Given the description of an element on the screen output the (x, y) to click on. 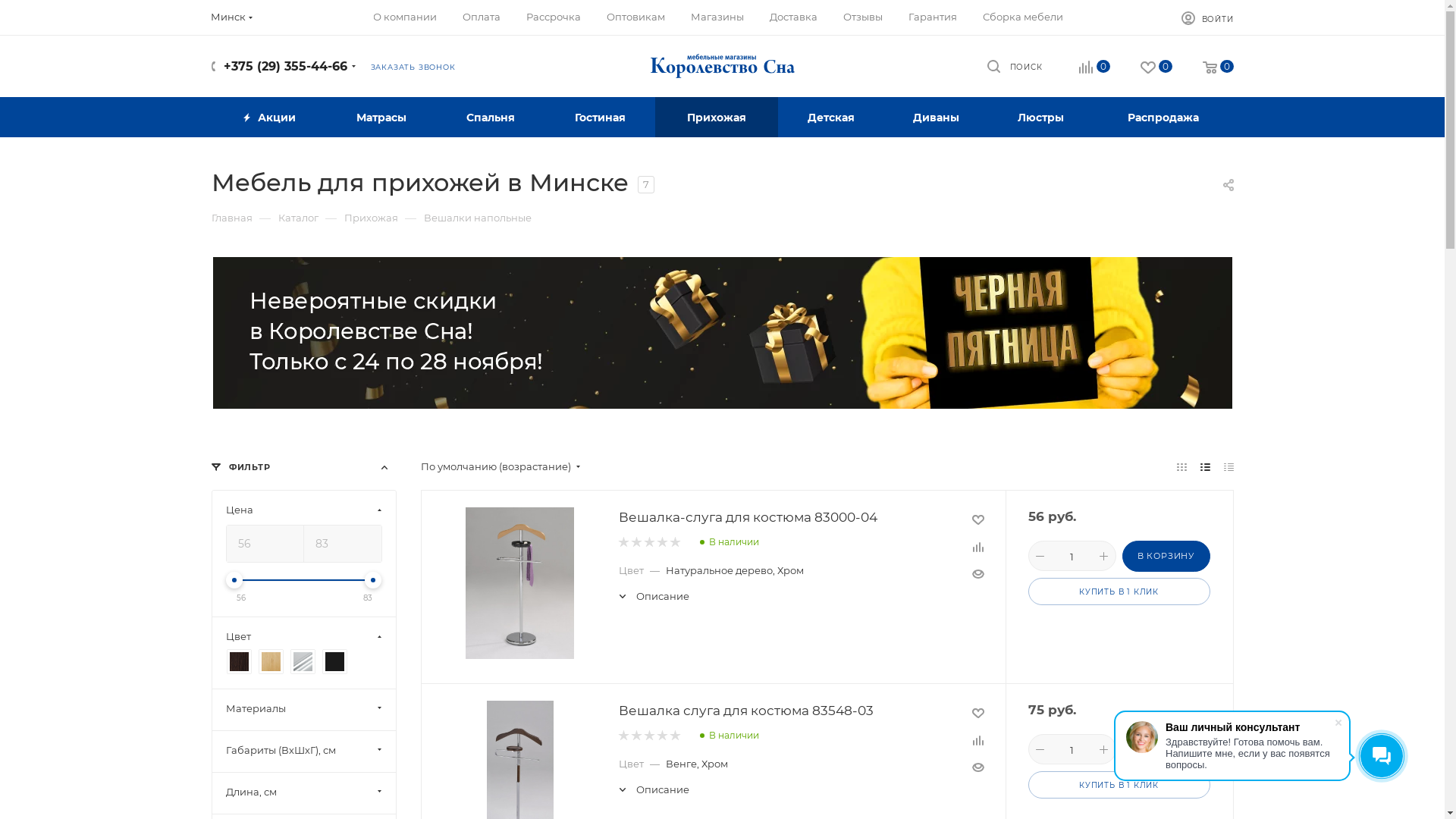
2 Element type: hover (635, 735)
1 Element type: hover (623, 735)
1 Element type: hover (623, 542)
2 Element type: hover (635, 542)
+375 (29) 355-44-66 Element type: text (284, 66)
4 Element type: hover (661, 735)
3 Element type: hover (649, 735)
5 Element type: hover (674, 735)
4 Element type: hover (661, 542)
0 Element type: text (1156, 68)
0 Element type: text (1217, 68)
0 Element type: text (1093, 68)
3 Element type: hover (649, 542)
5 Element type: hover (674, 542)
